Given the description of an element on the screen output the (x, y) to click on. 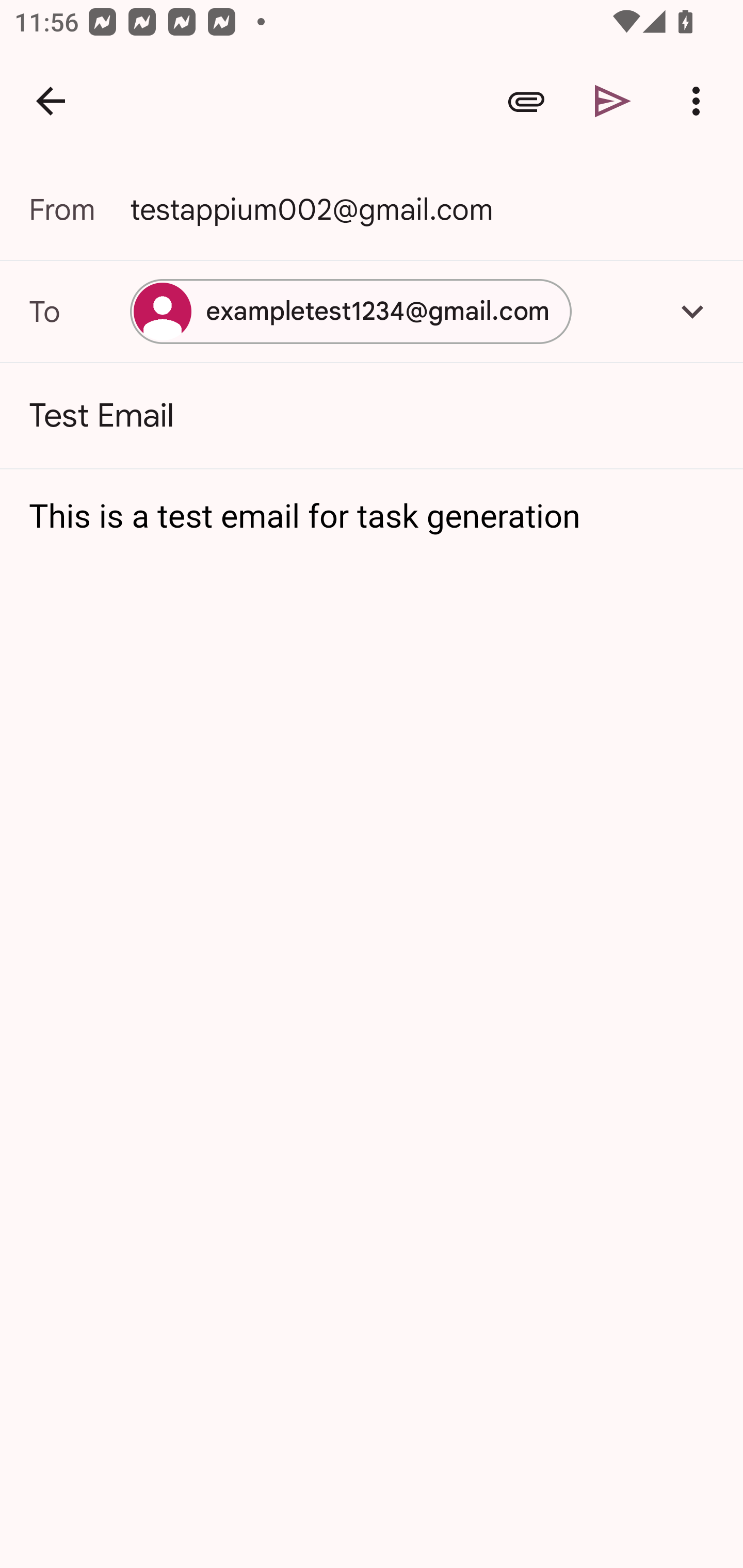
Navigate up (50, 101)
Attach file (525, 101)
Send (612, 101)
More options (699, 101)
From (79, 209)
Add Cc/Bcc (692, 311)
Test Email (371, 415)
This is a test email for task generation (372, 517)
